Given the description of an element on the screen output the (x, y) to click on. 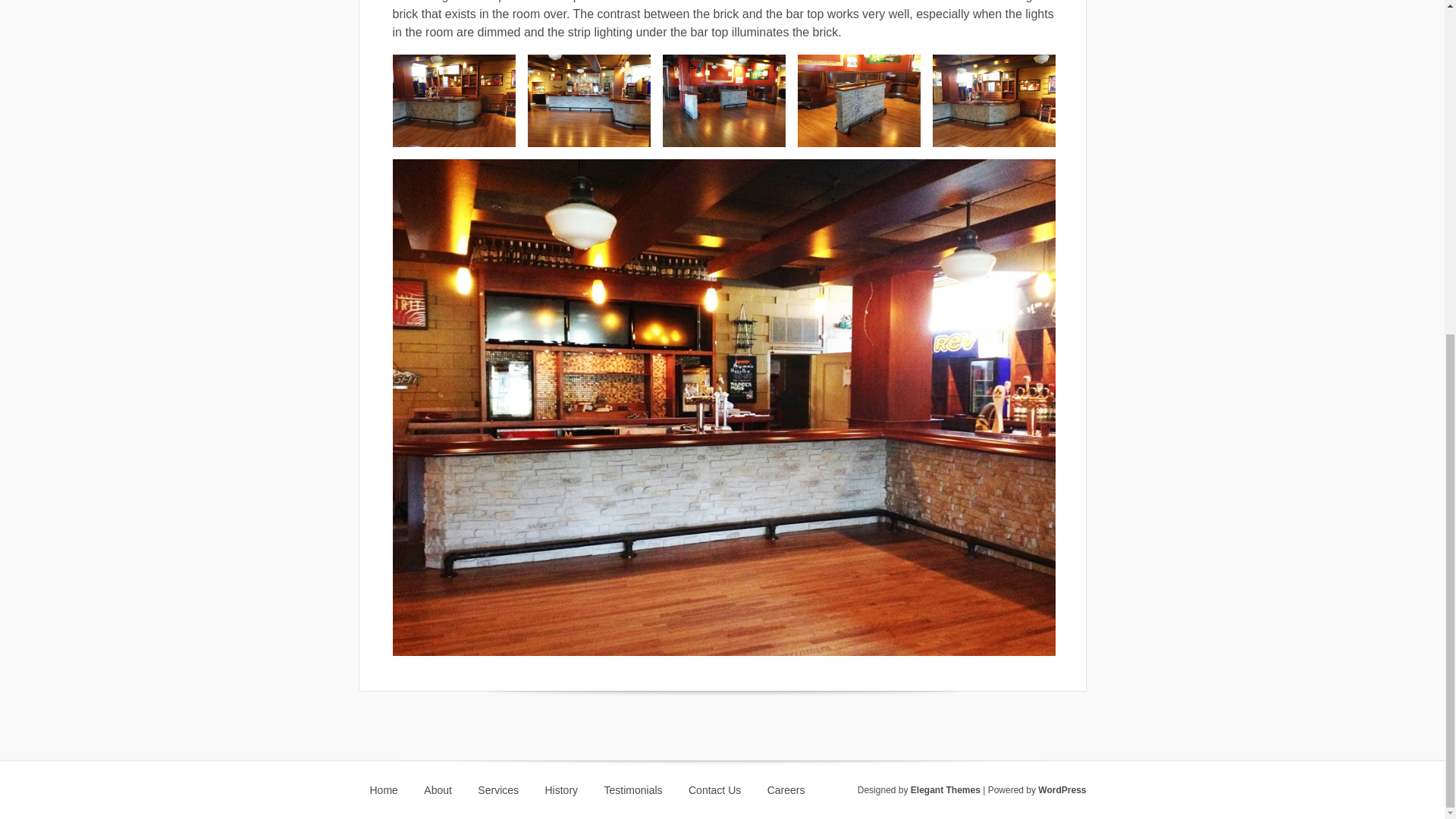
Premium WordPress Themes (945, 789)
